Given the description of an element on the screen output the (x, y) to click on. 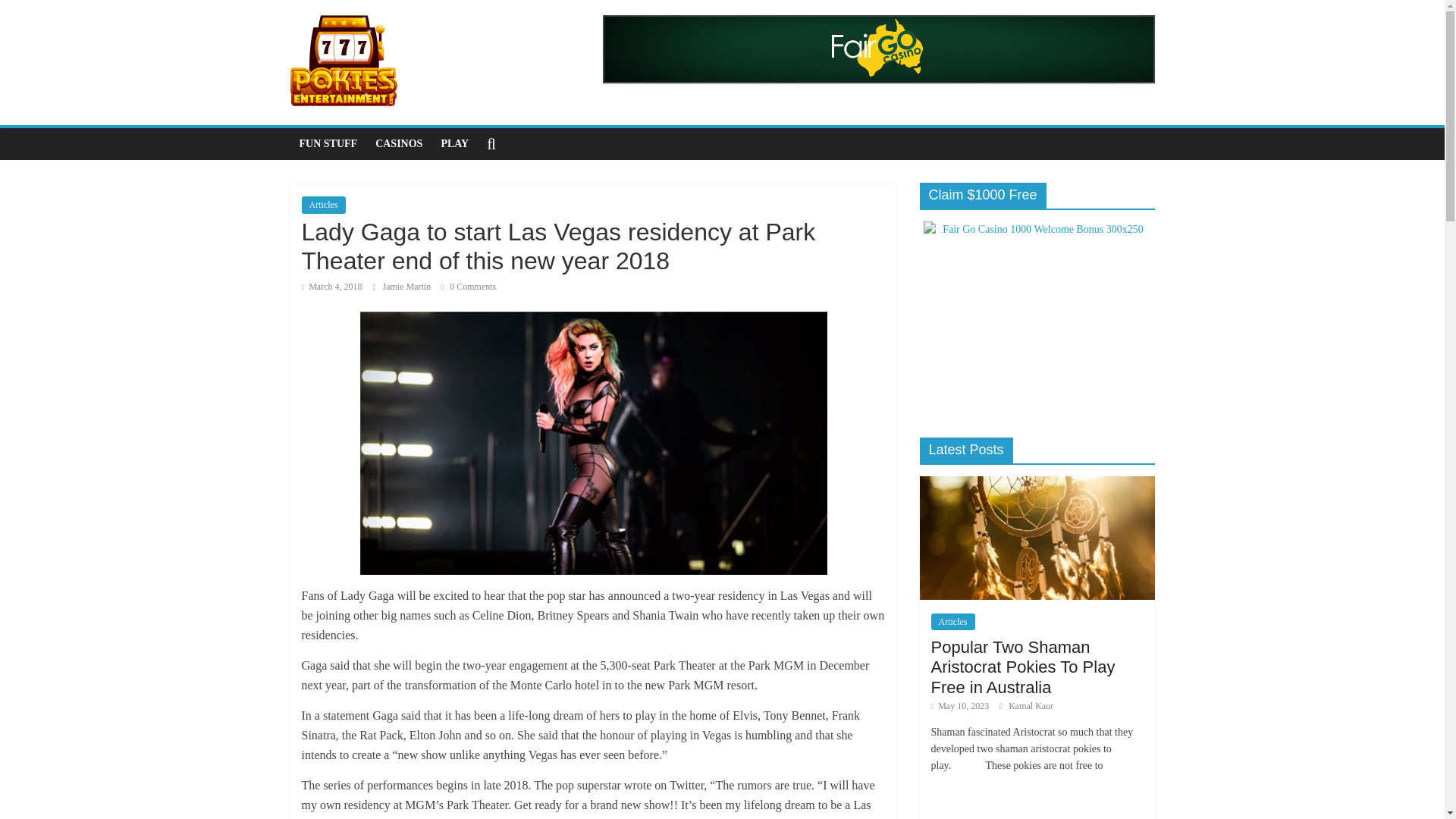
0 Comments (468, 286)
PLAY (453, 143)
Jamie Martin (407, 286)
CASINOS (398, 143)
March 4, 2018 (331, 286)
4:41 am (331, 286)
Jamie Martin (407, 286)
Articles (323, 204)
FUN STUFF (327, 143)
